Given the description of an element on the screen output the (x, y) to click on. 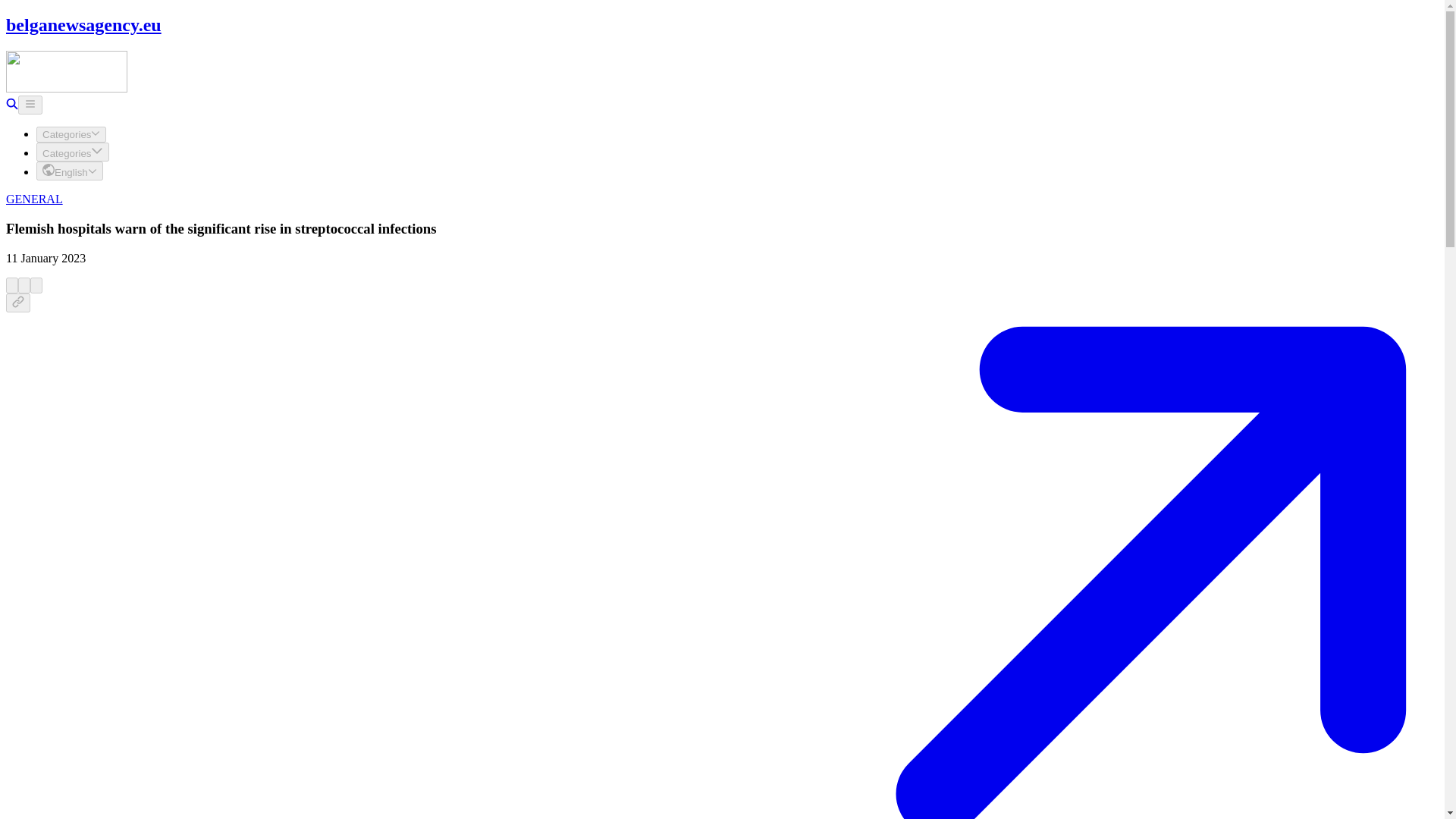
Copy URL (17, 302)
Toggle navigation (29, 104)
Categories (71, 134)
GENERAL (33, 198)
Categories (72, 151)
English (69, 170)
Search (11, 105)
